Given the description of an element on the screen output the (x, y) to click on. 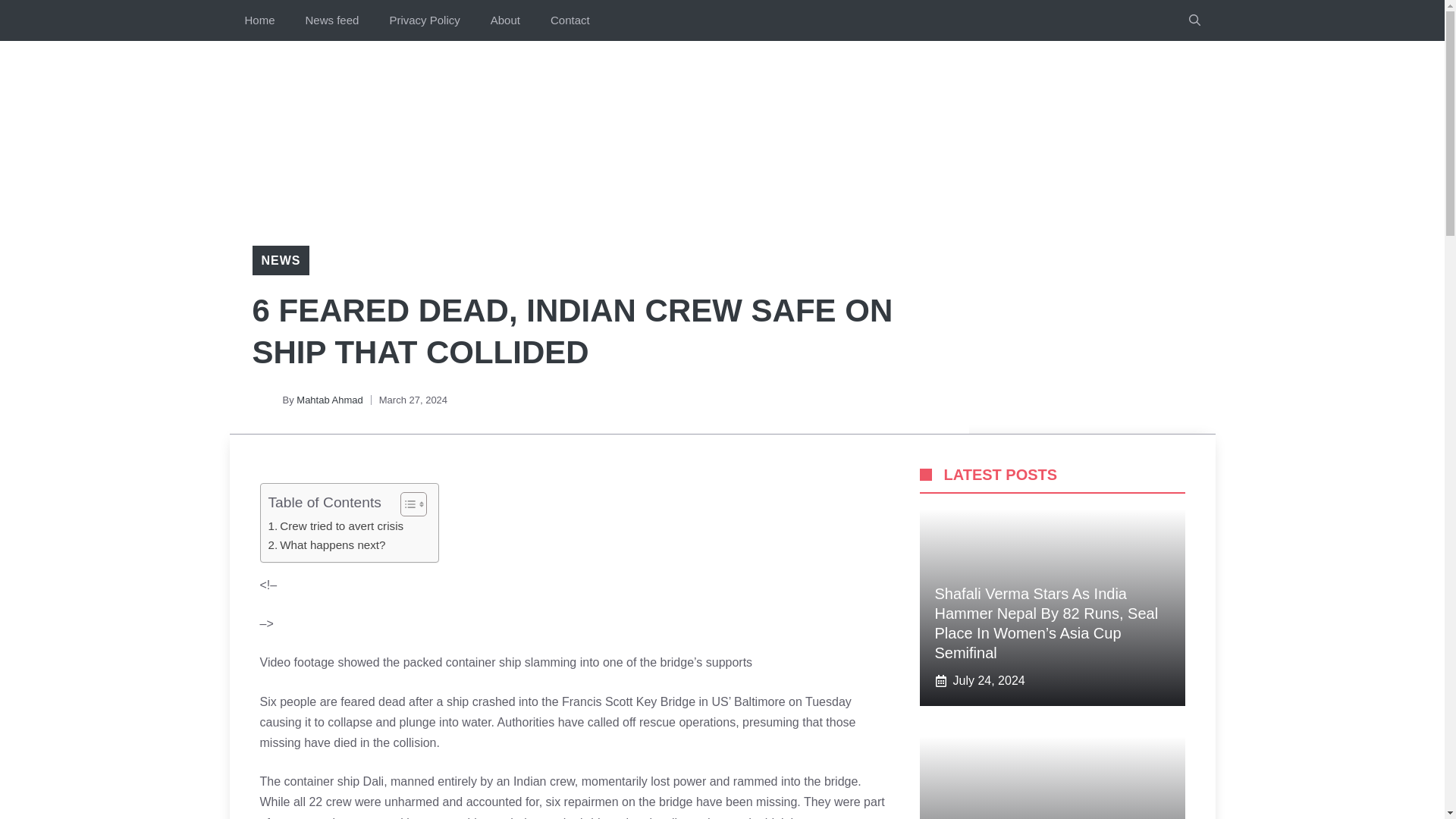
Contact (570, 20)
News feed (331, 20)
NEWS (279, 259)
Home (258, 20)
What happens next? (326, 545)
Baltimore (761, 701)
About (505, 20)
What happens next? (326, 545)
ship crashed (480, 701)
Mahtab Ahmad (329, 399)
Crew tried to avert crisis (335, 525)
Crew tried to avert crisis (335, 525)
Privacy Policy (424, 20)
